Given the description of an element on the screen output the (x, y) to click on. 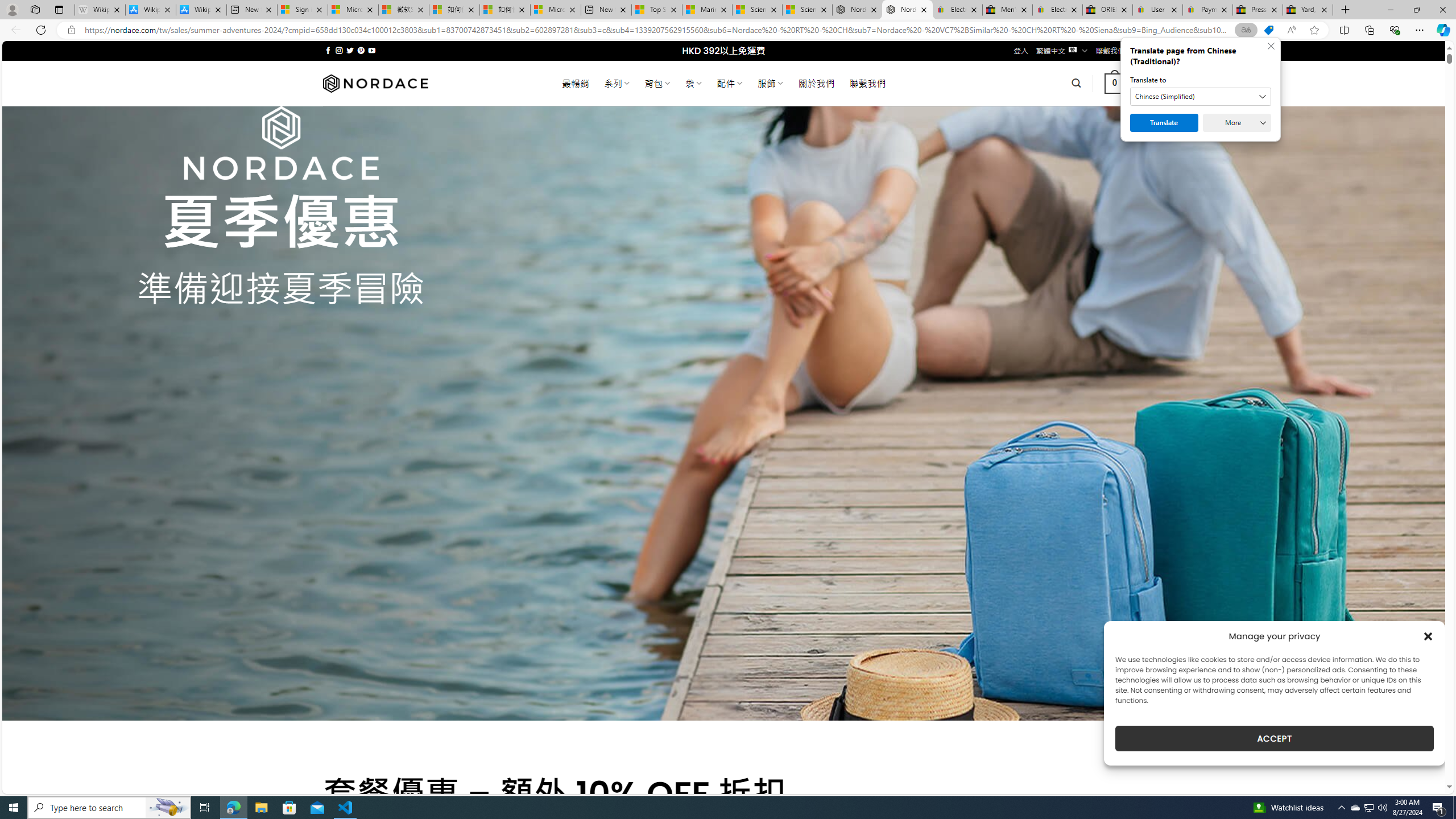
More (1236, 122)
